Given the description of an element on the screen output the (x, y) to click on. 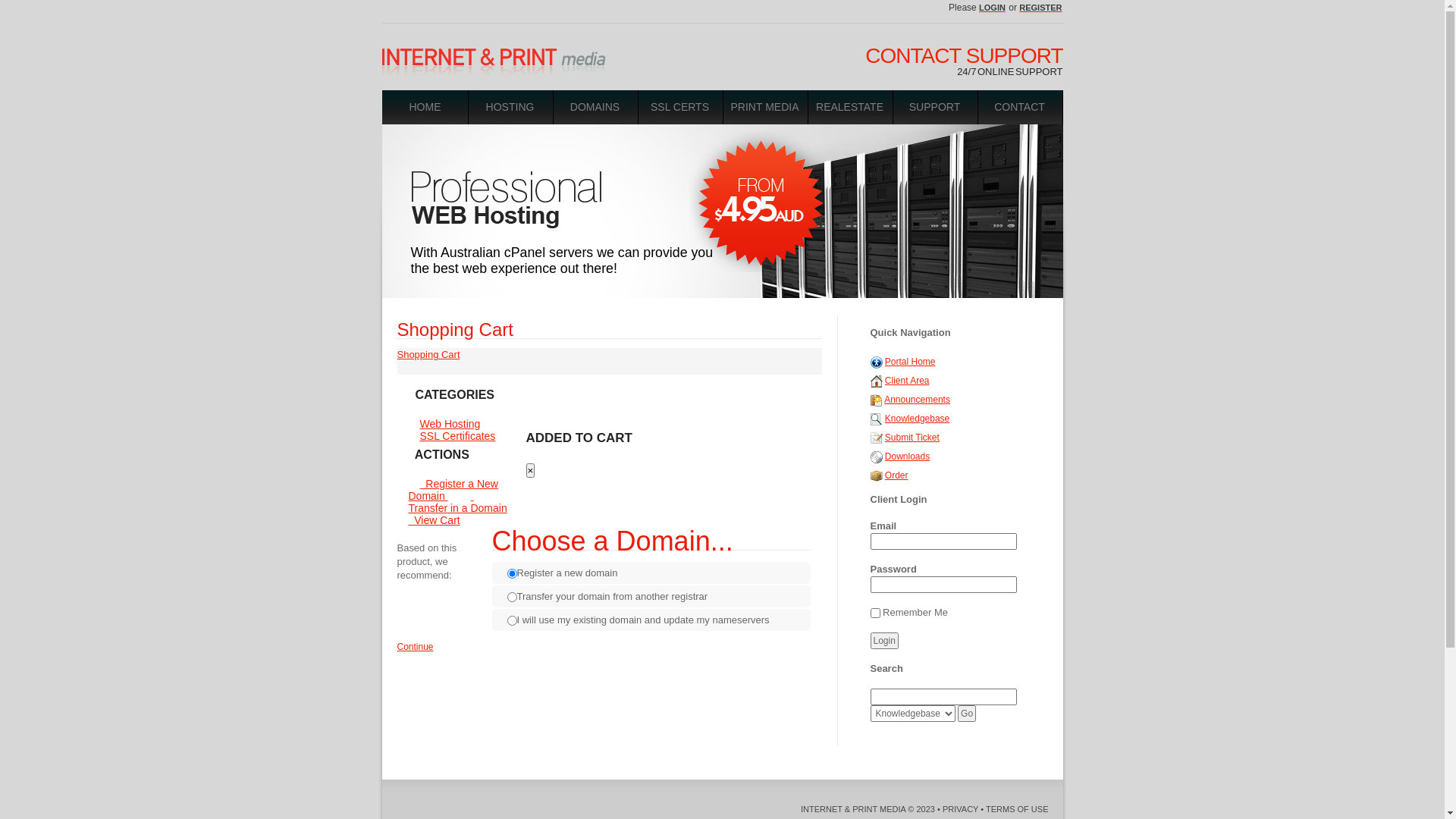
DOMAINS Element type: text (595, 107)
SSL Certificates Element type: text (456, 435)
Continue Element type: text (415, 646)
TERMS OF USE Element type: text (1016, 808)
HOME Element type: text (425, 107)
Portal Home Element type: text (909, 361)
HOSTING Element type: text (510, 107)
REGISTER Element type: text (1040, 7)
Announcements Element type: text (917, 399)
Knowledgebase Element type: hover (876, 418)
PRIVACY Element type: text (960, 808)
Downloads Element type: hover (876, 456)
CONTACT SUPPORT Element type: text (963, 55)
Shopping Cart Element type: text (428, 354)
Login Element type: text (884, 640)
Announcements Element type: hover (876, 399)
LOGIN Element type: text (992, 7)
Go Element type: text (966, 713)
Submit Ticket Element type: hover (876, 437)
Knowledgebase Element type: text (916, 418)
Web Hosting Element type: text (449, 423)
Order Element type: hover (876, 475)
  Register a New Domain Element type: text (452, 489)
  Transfer in a Domain Element type: text (462, 501)
CONTACT Element type: text (1019, 107)
Order Element type: text (896, 475)
Downloads Element type: text (906, 456)
  View Cart Element type: text (468, 513)
PRINT MEDIA Element type: text (764, 107)
INTERNET & PRINT MEDIA Element type: text (852, 808)
SUPPORT Element type: text (934, 107)
SSL CERTS Element type: text (679, 107)
Submit Ticket Element type: text (911, 437)
REALESTATE Element type: text (849, 107)
Client Area Element type: text (906, 380)
